Given the description of an element on the screen output the (x, y) to click on. 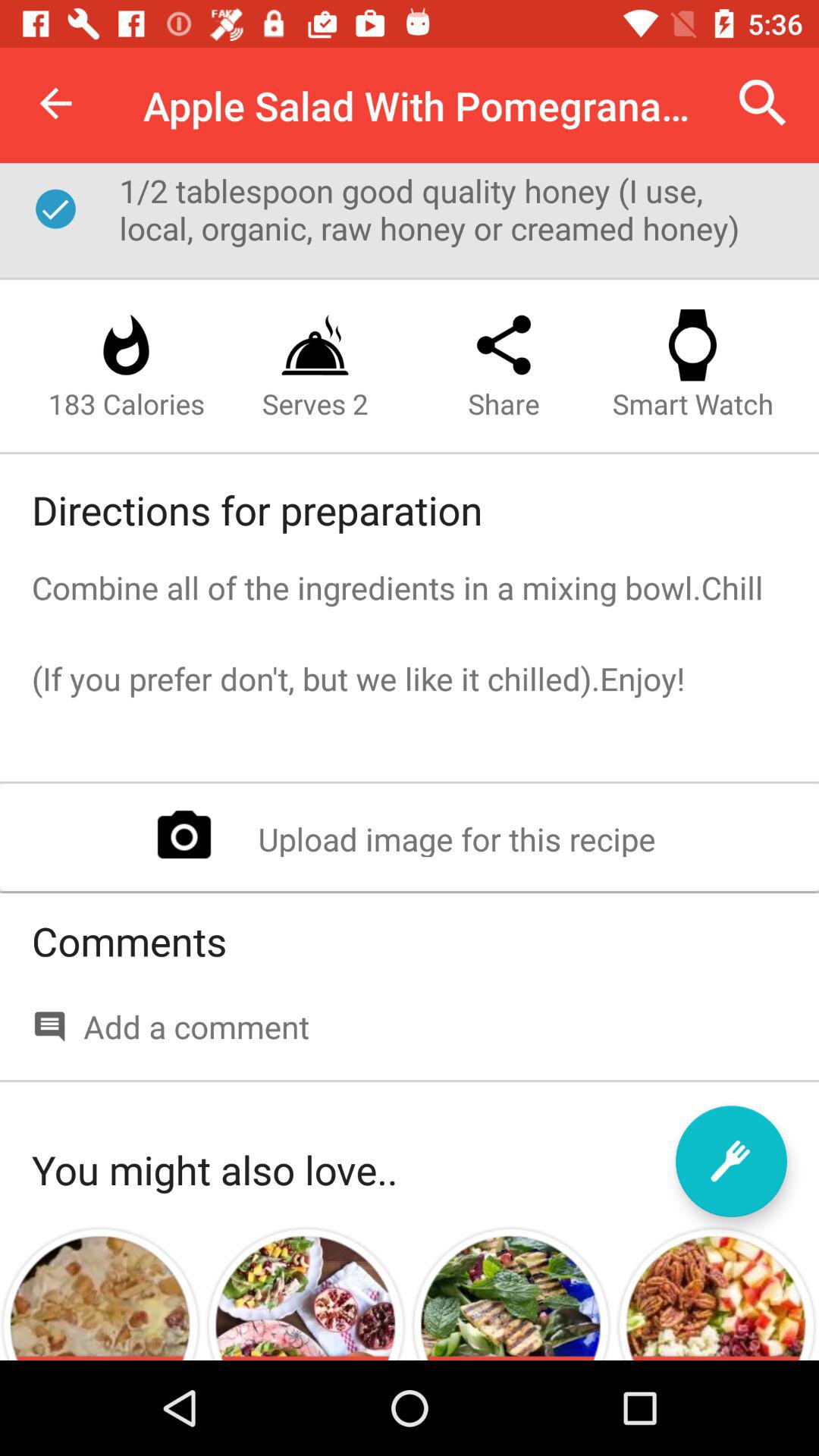
press icon next to apple salad with item (763, 103)
